Given the description of an element on the screen output the (x, y) to click on. 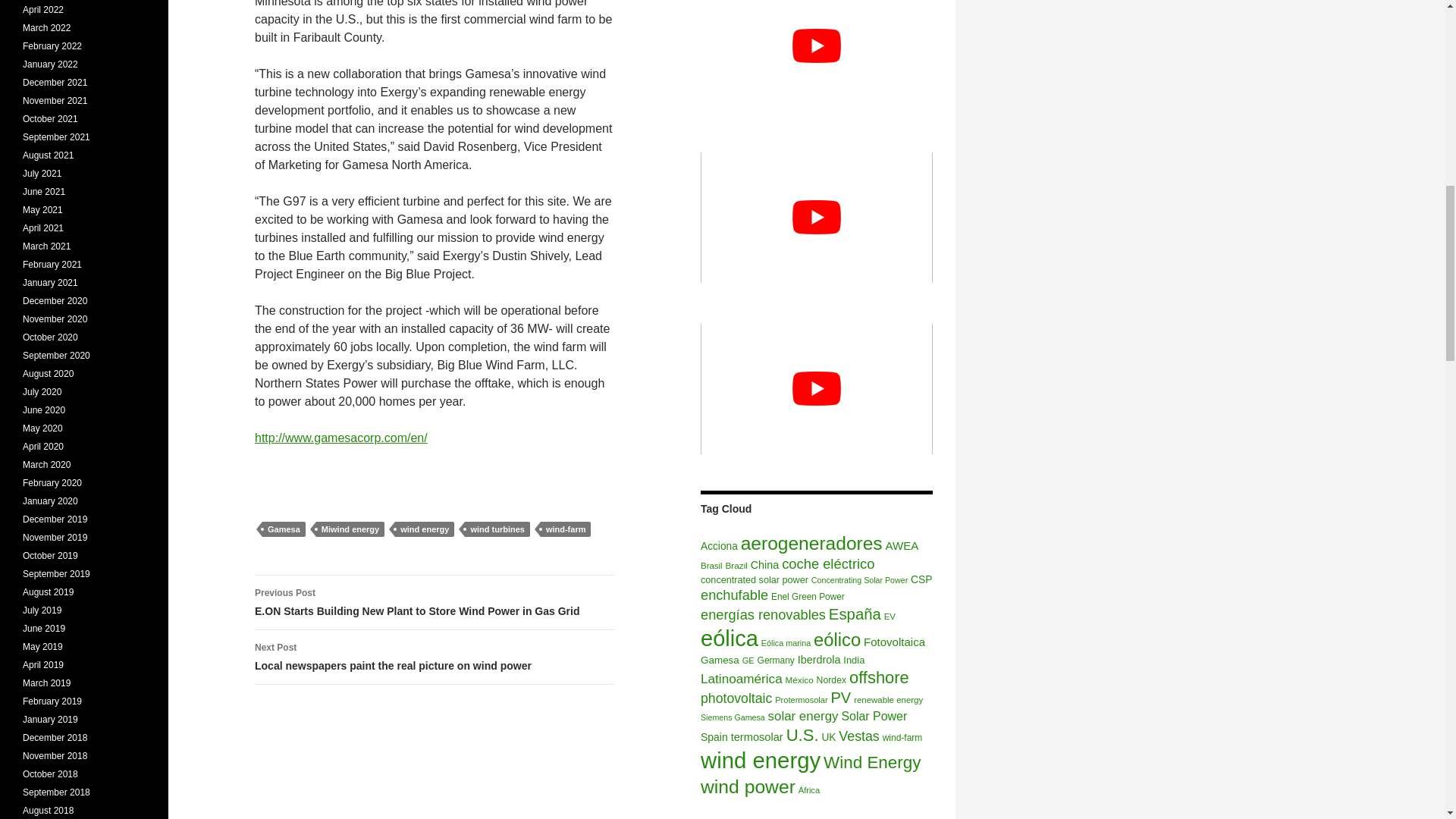
Miwind energy (349, 529)
wind energy (424, 529)
Gamesa (283, 529)
wind turbines (496, 529)
wind-farm (565, 529)
